Given the description of an element on the screen output the (x, y) to click on. 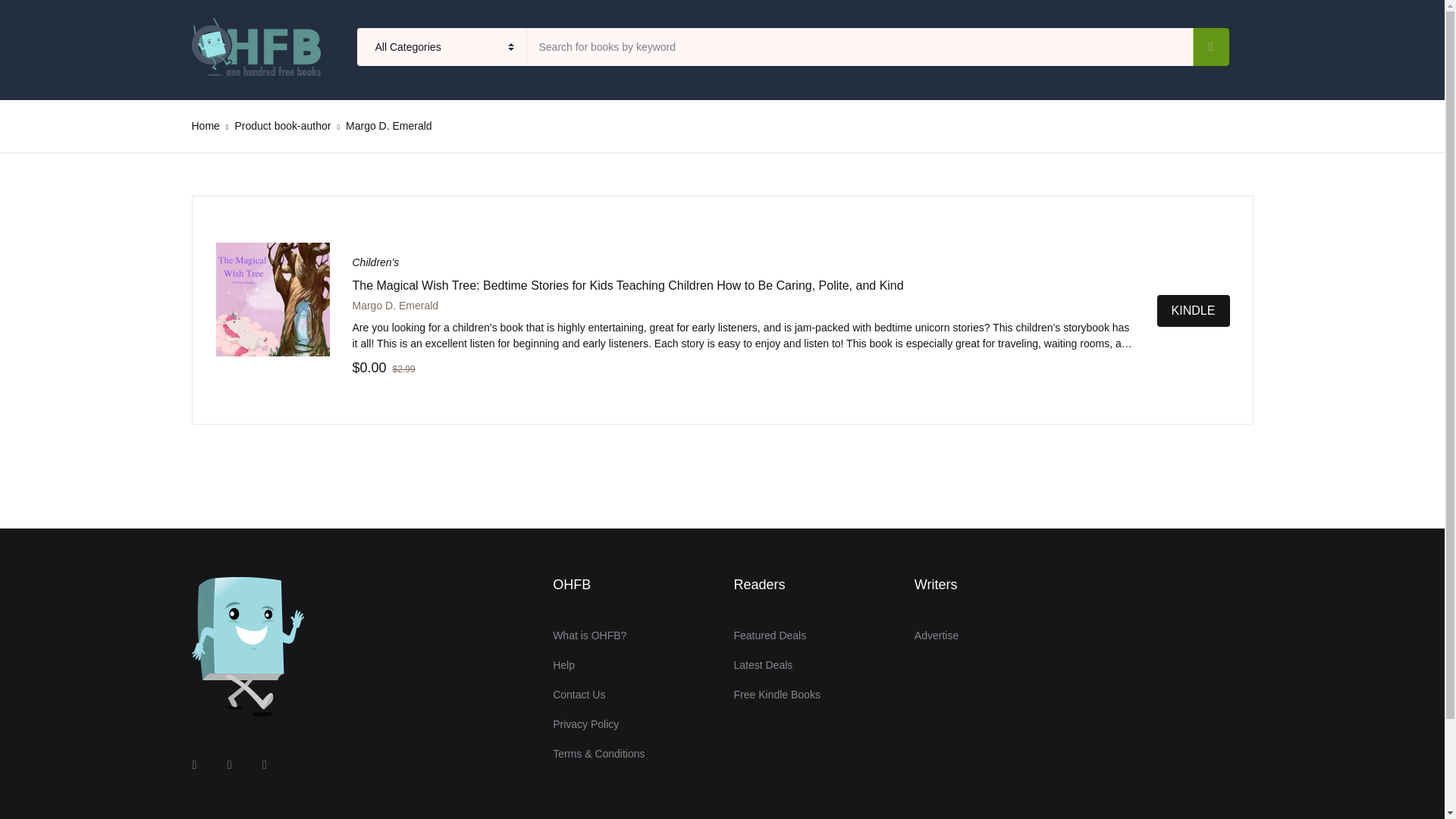
Advertise (936, 635)
Free Kindle Books (776, 695)
KINDLE (1193, 309)
Home (204, 125)
What is OHFB? (589, 635)
Latest Deals (762, 665)
Privacy Policy (585, 724)
Featured Deals (769, 635)
Margo D. Emerald (395, 305)
Contact Us (579, 695)
